Given the description of an element on the screen output the (x, y) to click on. 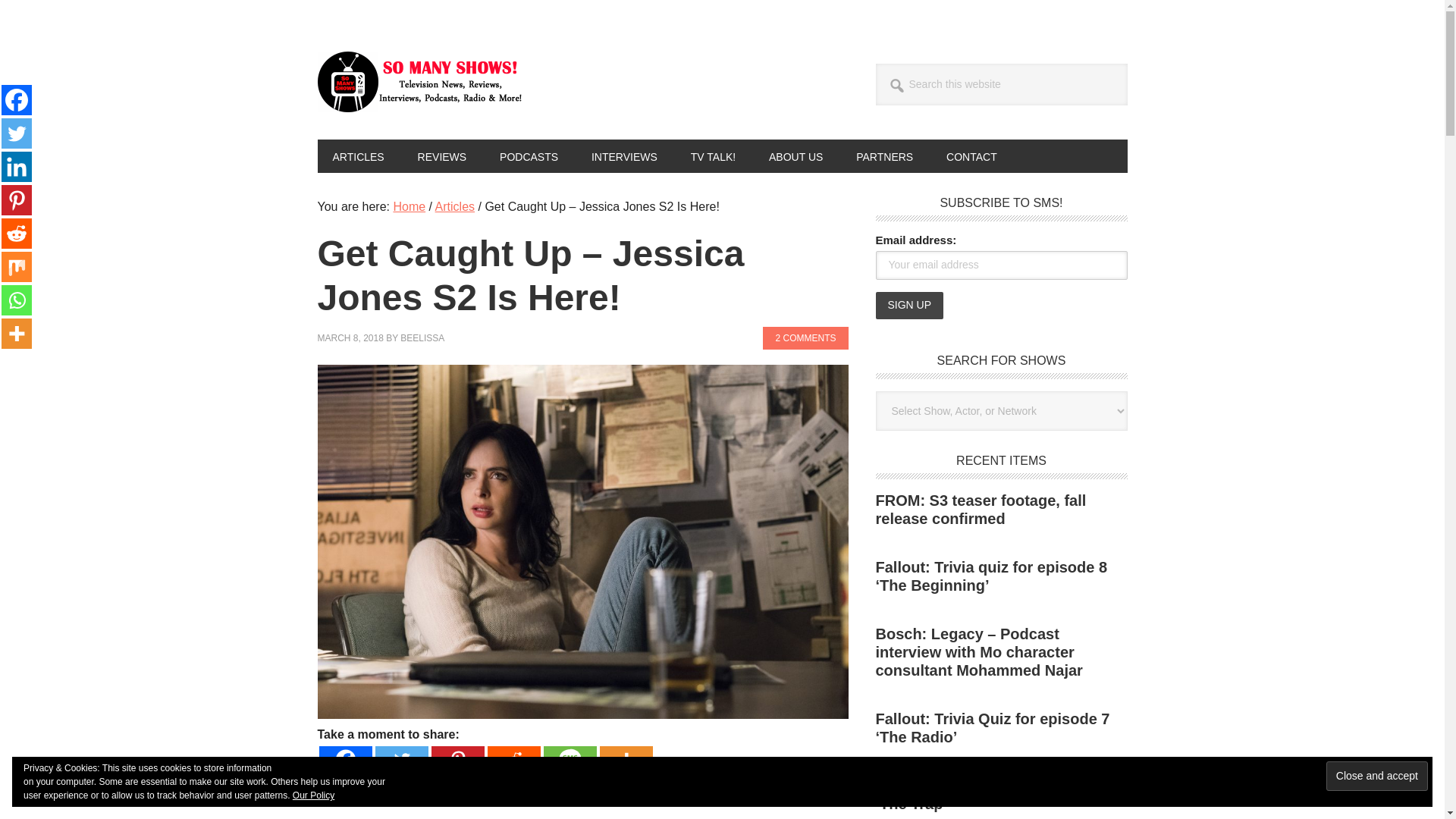
Reddit (513, 759)
Facebook (16, 100)
TV TALK! (713, 155)
ABOUT US (796, 155)
2 COMMENTS (804, 337)
Pinterest (456, 759)
PARTNERS (884, 155)
Close and accept (1377, 776)
ARTICLES (357, 155)
BEELISSA (422, 337)
Facebook (344, 759)
Twitter (401, 759)
More (625, 759)
Twitter (16, 132)
